Given the description of an element on the screen output the (x, y) to click on. 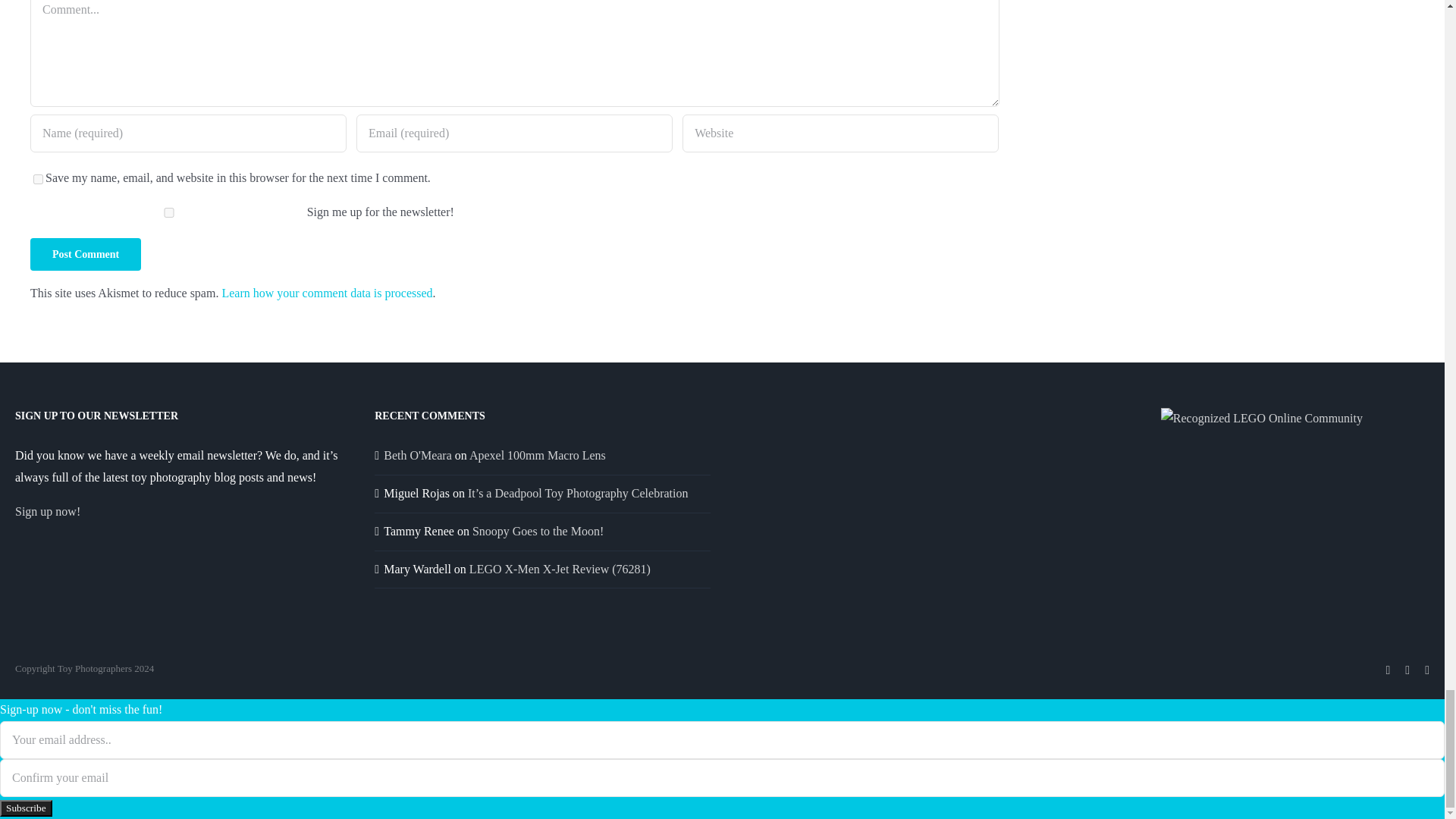
1 (168, 212)
yes (38, 179)
Post Comment (85, 254)
Subscribe (26, 808)
